Given the description of an element on the screen output the (x, y) to click on. 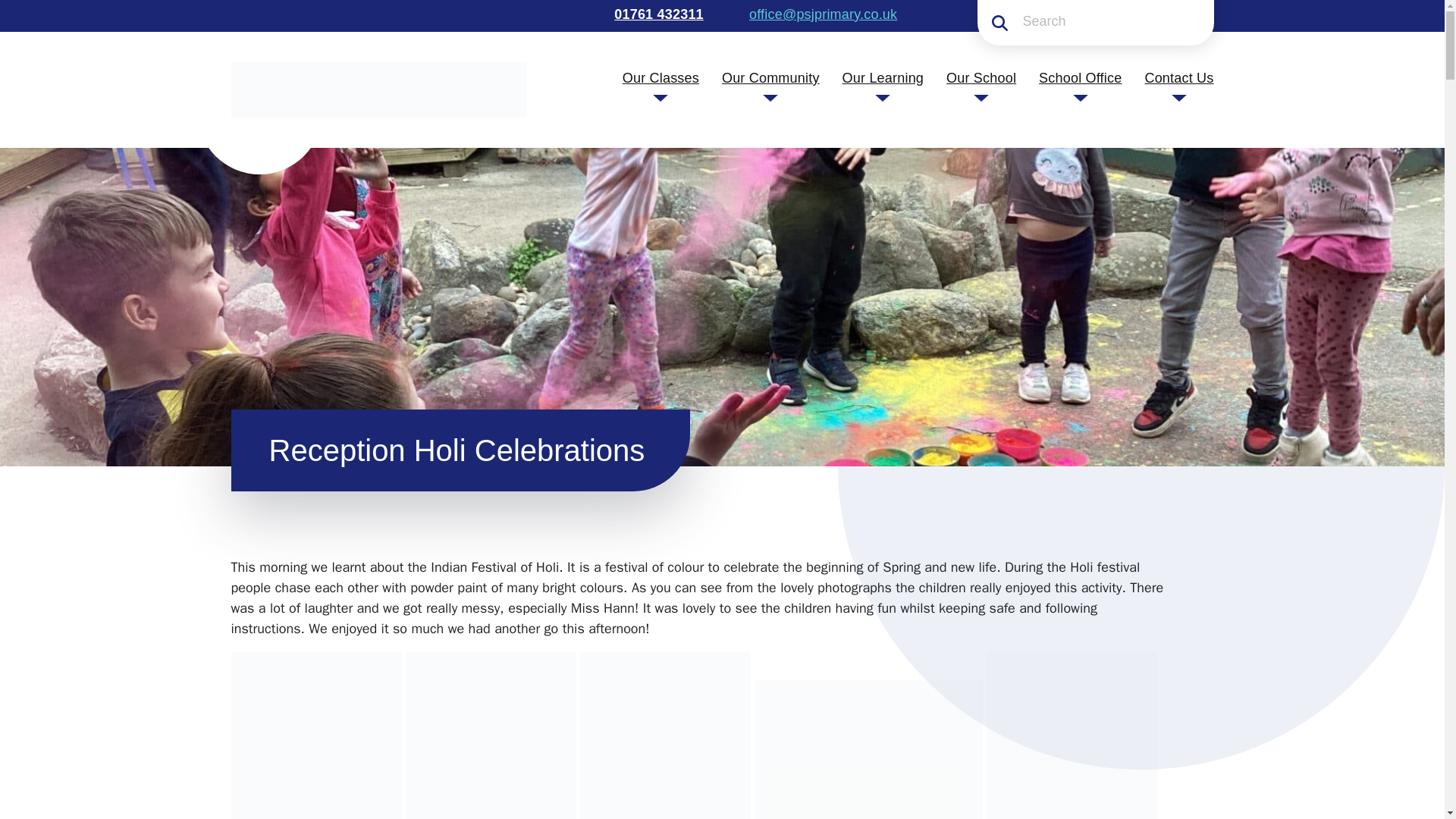
Our School (981, 77)
01761 432311 (656, 14)
Our Classes (660, 77)
Our Community (770, 77)
Our Classes (660, 77)
Our Learning (883, 77)
Our Community (770, 77)
